Given the description of an element on the screen output the (x, y) to click on. 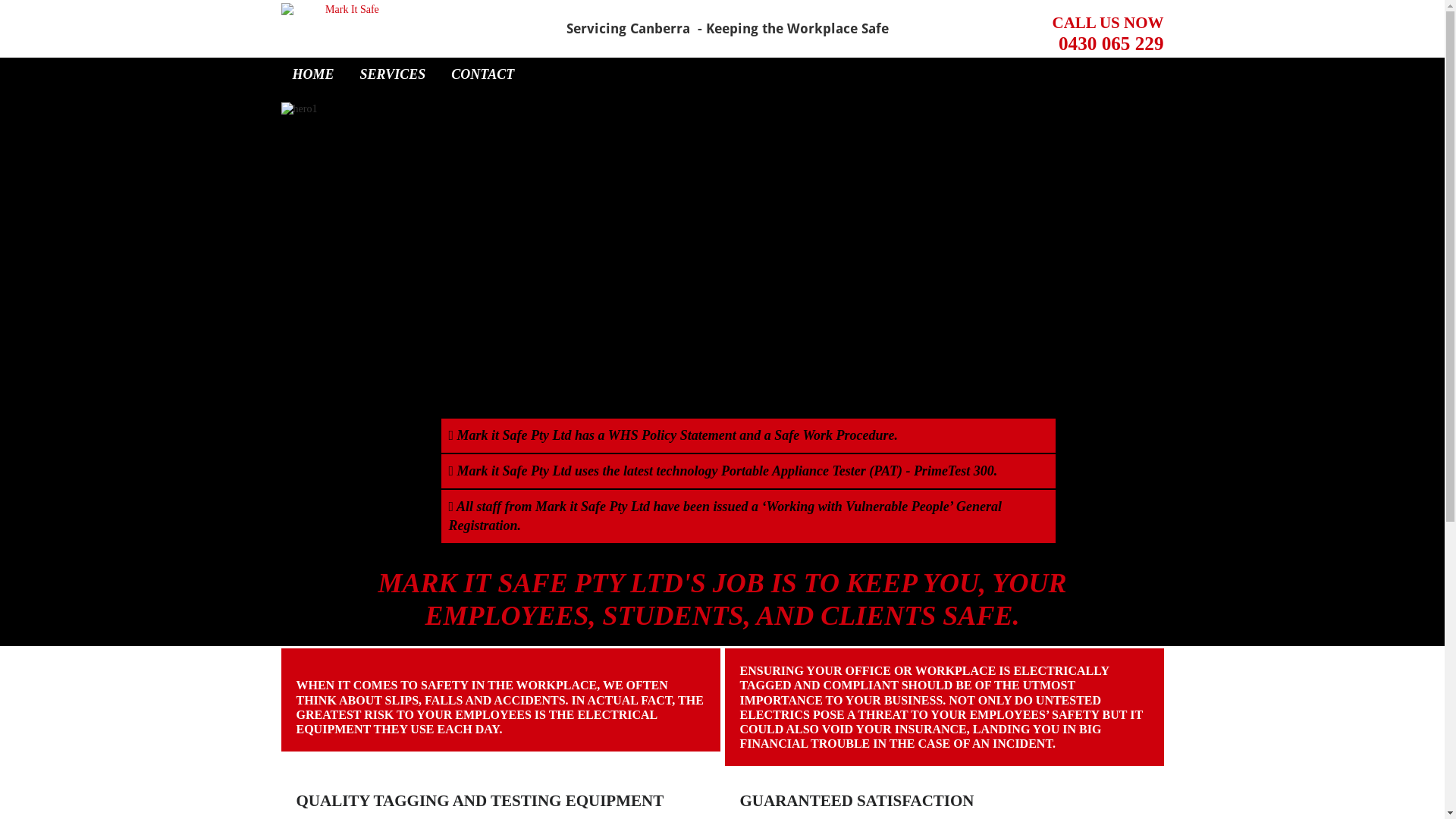
hero1 Element type: hover (721, 280)
CONTACT Element type: text (482, 74)
0430 065 229 Element type: text (1111, 43)
HOME Element type: text (313, 74)
SERVICES Element type: text (393, 74)
Mark It Safe Element type: hover (345, 9)
